Given the description of an element on the screen output the (x, y) to click on. 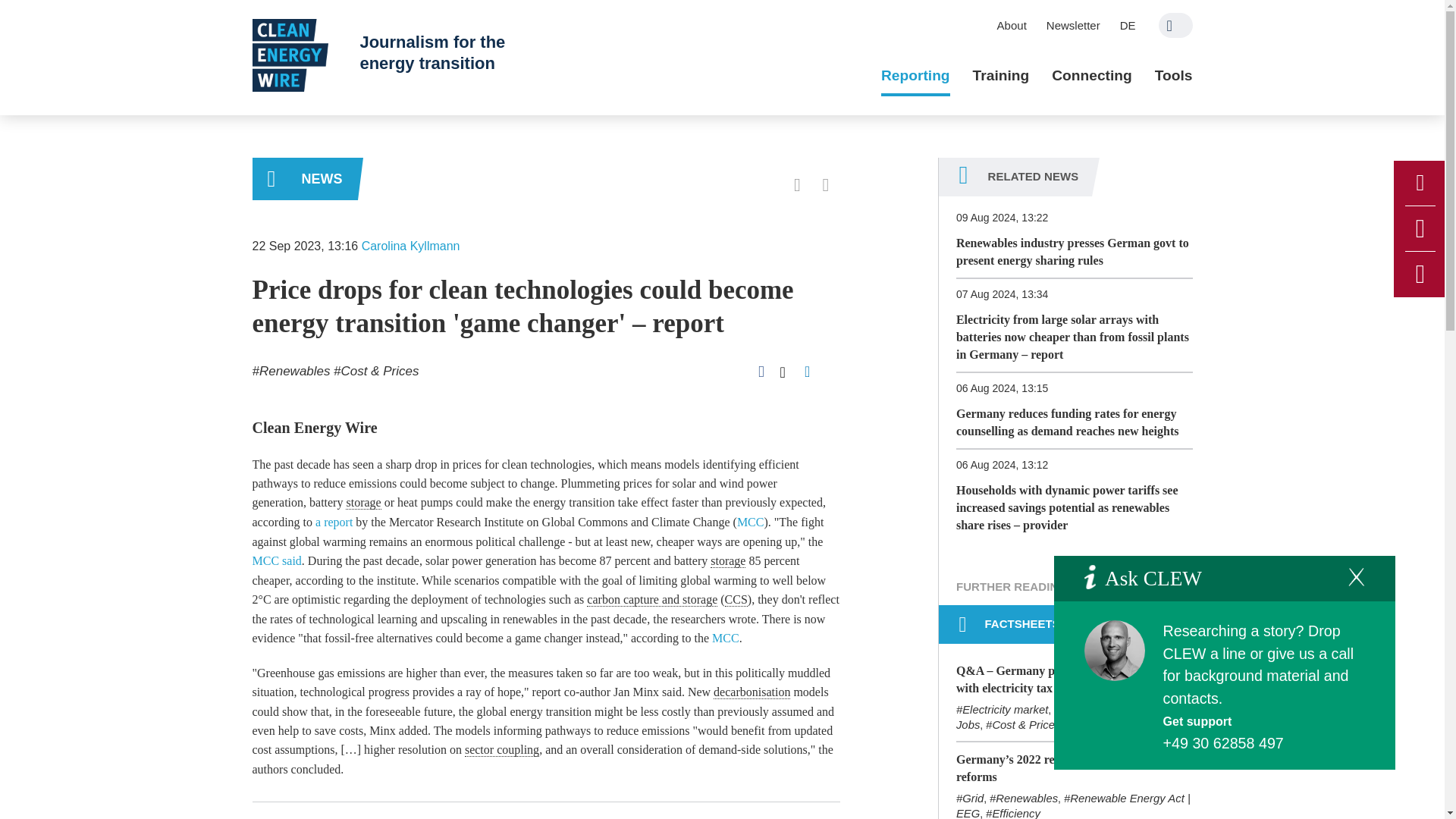
Reporting (915, 75)
storage (363, 502)
About (1011, 25)
Renewables (290, 370)
Connecting (1091, 75)
Tools (1173, 75)
NEWS (303, 178)
Newsletter (1072, 25)
Training (1000, 75)
Sven Egenter (1114, 649)
